Given the description of an element on the screen output the (x, y) to click on. 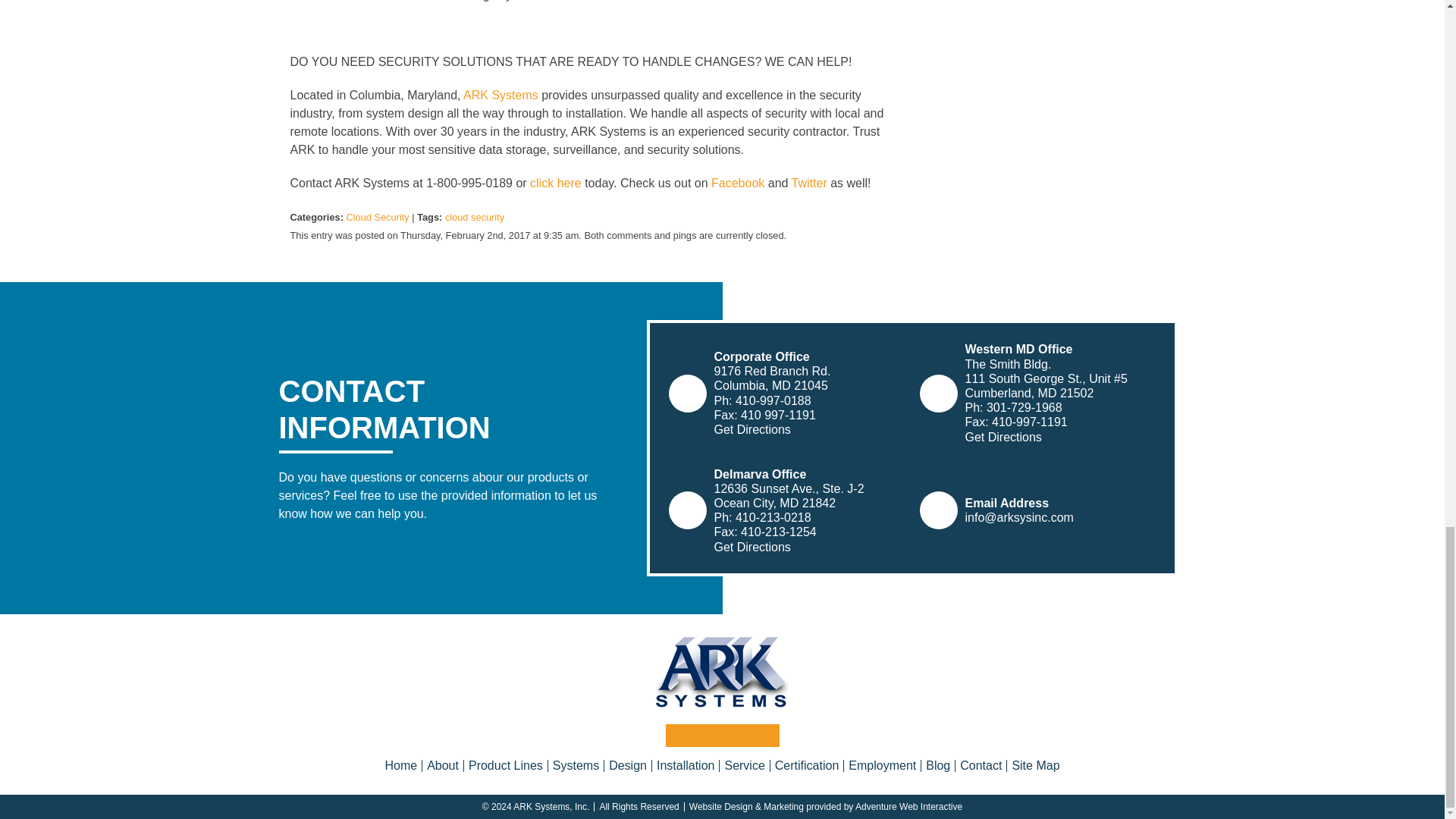
ARK Systems (722, 672)
Facebook (737, 182)
ARK Systems (500, 94)
click here (554, 182)
